Given the description of an element on the screen output the (x, y) to click on. 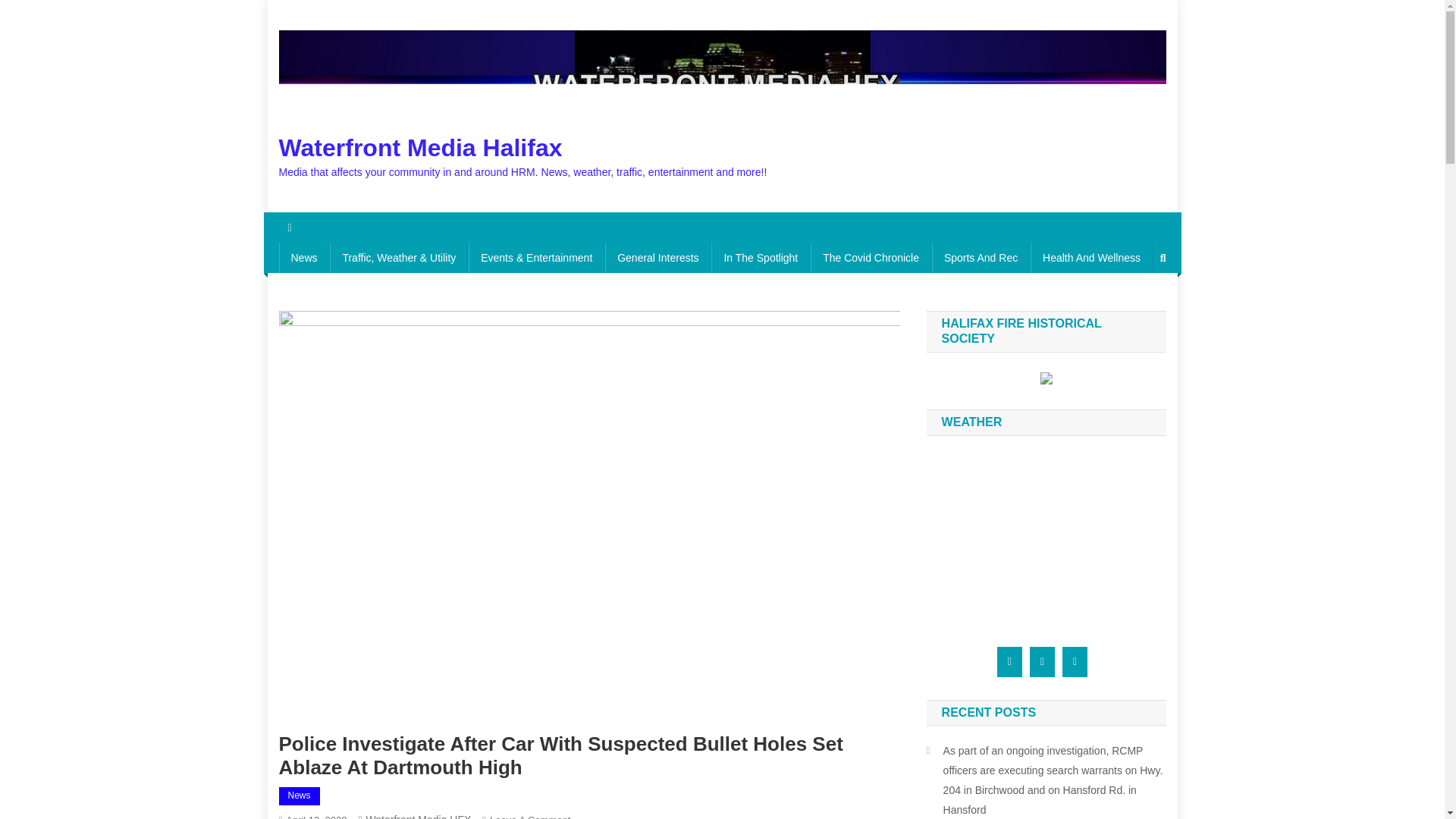
Waterfront Media Halifax (420, 146)
In The Spotlight (760, 257)
Sports And Rec (980, 257)
Health And Wellness (1091, 257)
Waterfront Media HFX (418, 816)
The Covid Chronicle (870, 257)
Search (1133, 308)
April 13, 2020 (315, 816)
News (299, 796)
News (304, 257)
General Interests (657, 257)
Environment Canada Weather (1035, 534)
